Given the description of an element on the screen output the (x, y) to click on. 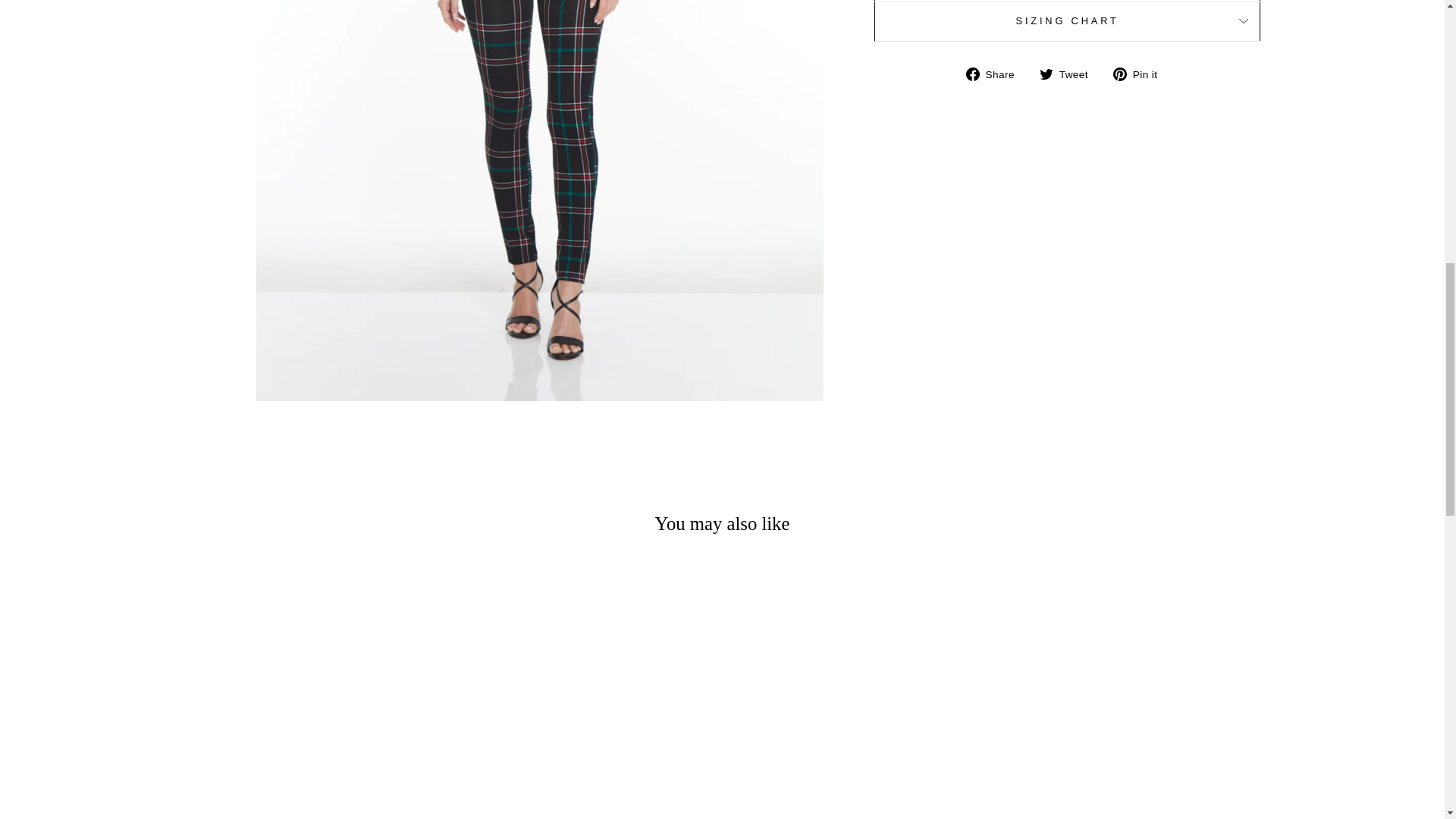
Pin on Pinterest (1141, 74)
Tweet on Twitter (1069, 74)
Share on Facebook (996, 74)
twitter (1045, 74)
